Given the description of an element on the screen output the (x, y) to click on. 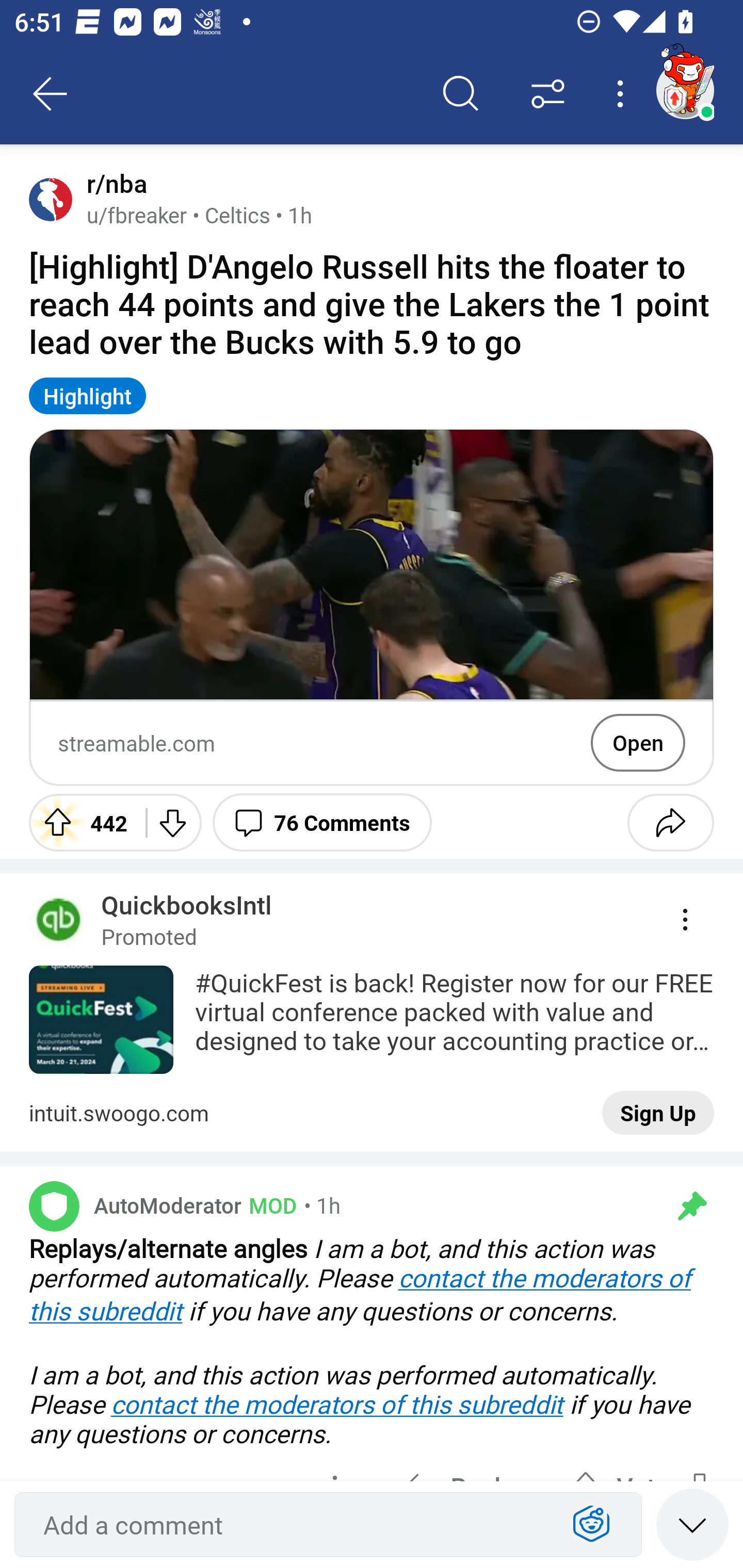
Back (50, 93)
TestAppium002 account (685, 90)
Search comments (460, 93)
Sort comments (547, 93)
More options (623, 93)
r/nba (113, 183)
Avatar (50, 199)
Highlight (87, 395)
Preview Image streamable.com Open (371, 606)
Open (637, 742)
Upvote 442 (79, 822)
Downvote (171, 822)
76 Comments (321, 822)
Share (670, 822)
Avatar (53, 1205)
MOD (268, 1204)
Pinned (692, 1205)
Speed read (692, 1524)
Add a comment (291, 1524)
Show Expressions (590, 1524)
